Given the description of an element on the screen output the (x, y) to click on. 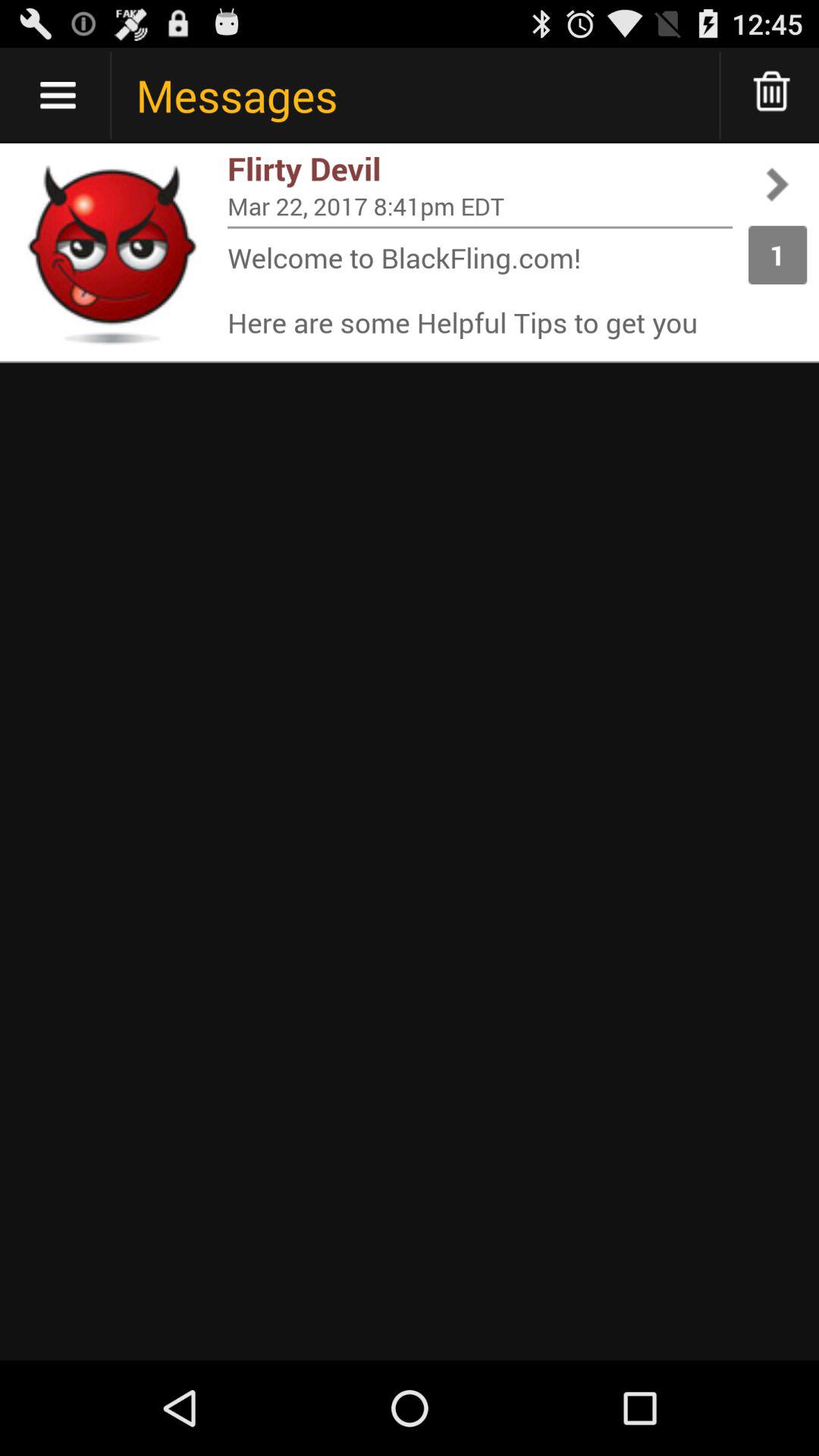
launch item below flirty devil (479, 205)
